Given the description of an element on the screen output the (x, y) to click on. 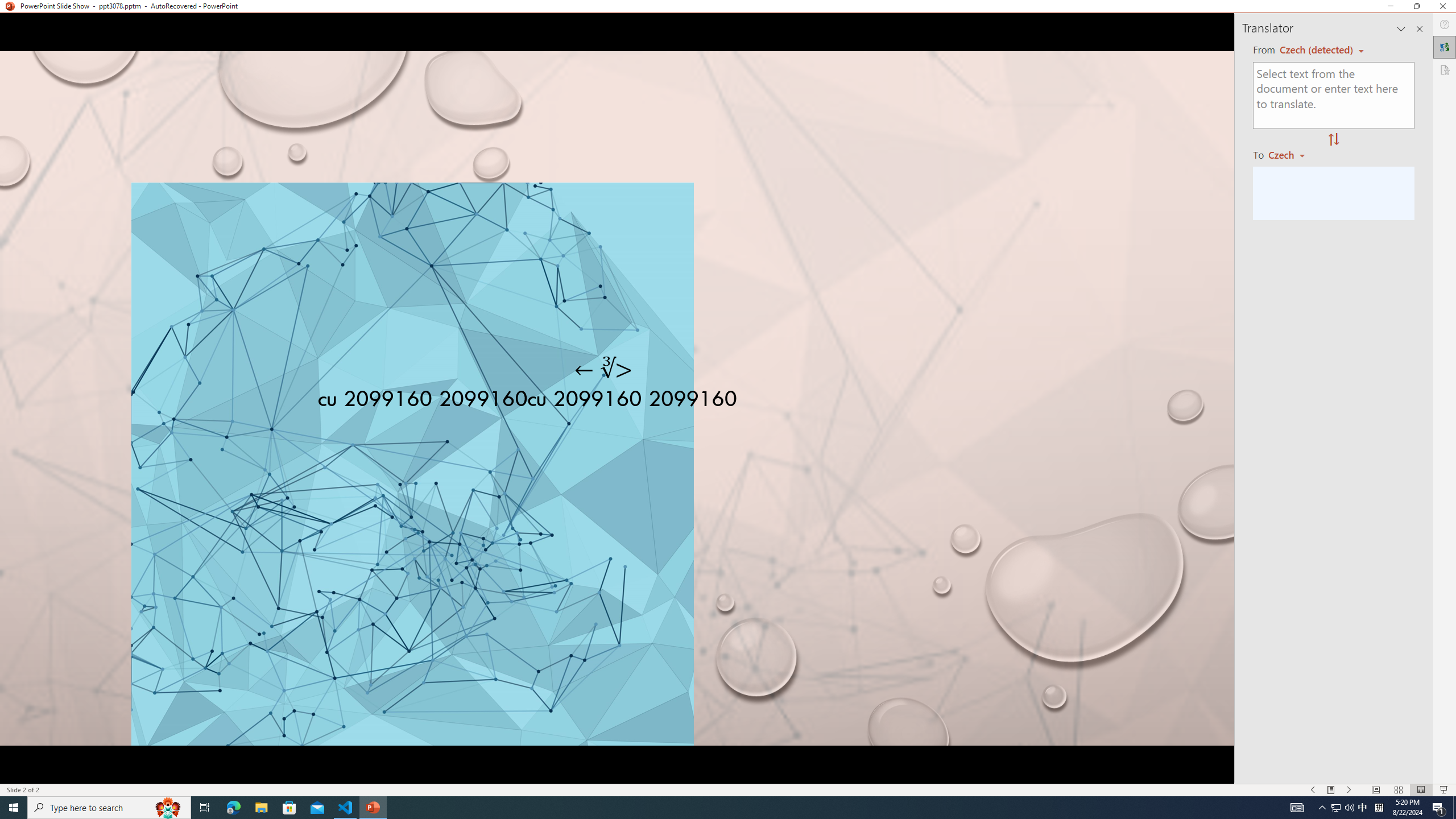
Czech (1291, 154)
Slide Show (1444, 790)
Menu On (1331, 790)
Normal (1375, 790)
